Given the description of an element on the screen output the (x, y) to click on. 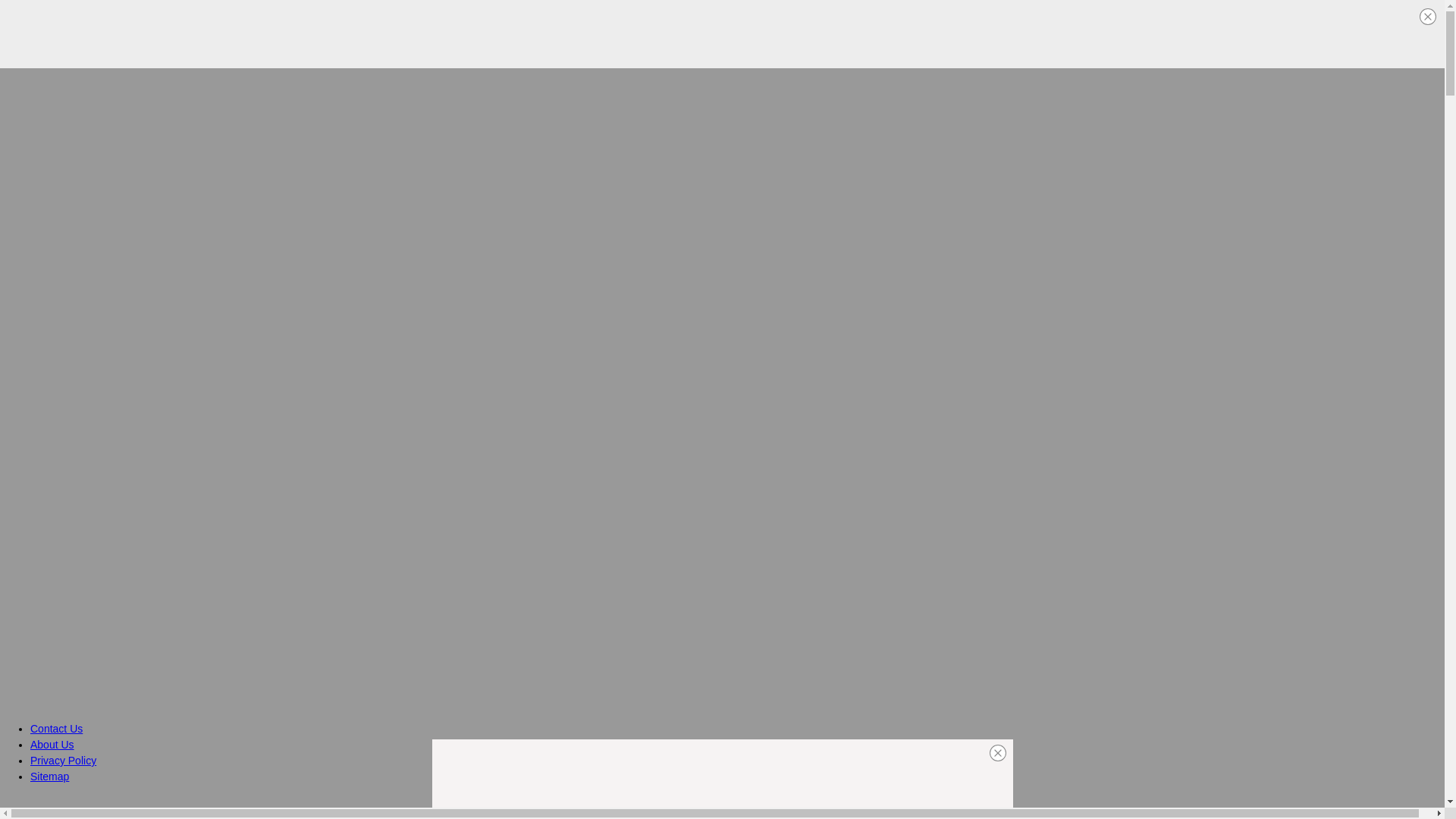
3rd party ad content (721, 33)
Where Facts Are Born (103, 807)
